Given the description of an element on the screen output the (x, y) to click on. 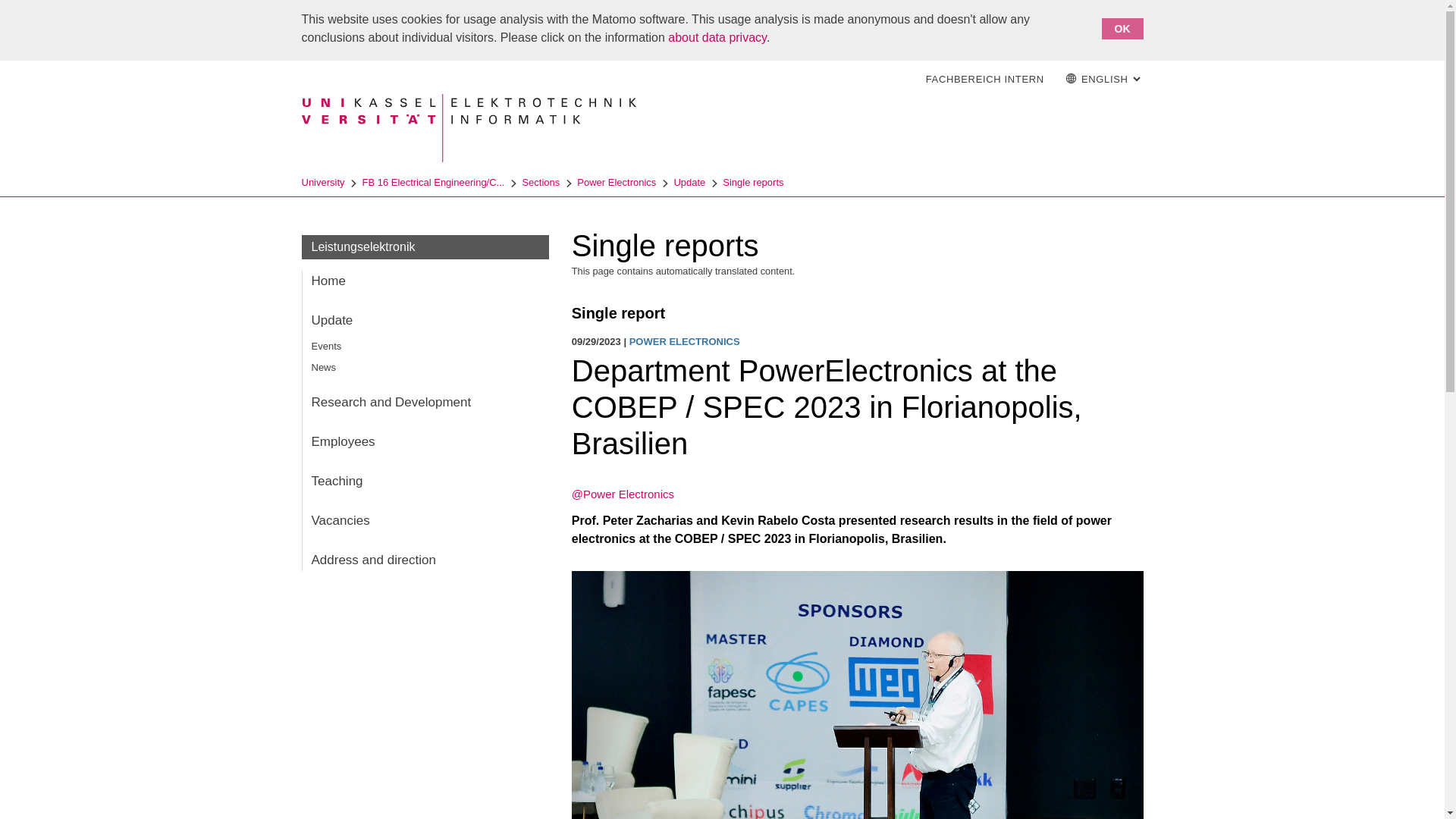
Power Electronics (616, 182)
Home (424, 281)
News (424, 367)
To start page (889, 79)
Teaching (424, 481)
Update (424, 320)
Update (688, 182)
FACHBEREICH INTERN (985, 79)
Research and Development (424, 402)
Address and direction (424, 559)
about data privacy (717, 37)
Employees (424, 441)
Vacancies (424, 520)
OK (1121, 28)
Show search form (845, 79)
